Given the description of an element on the screen output the (x, y) to click on. 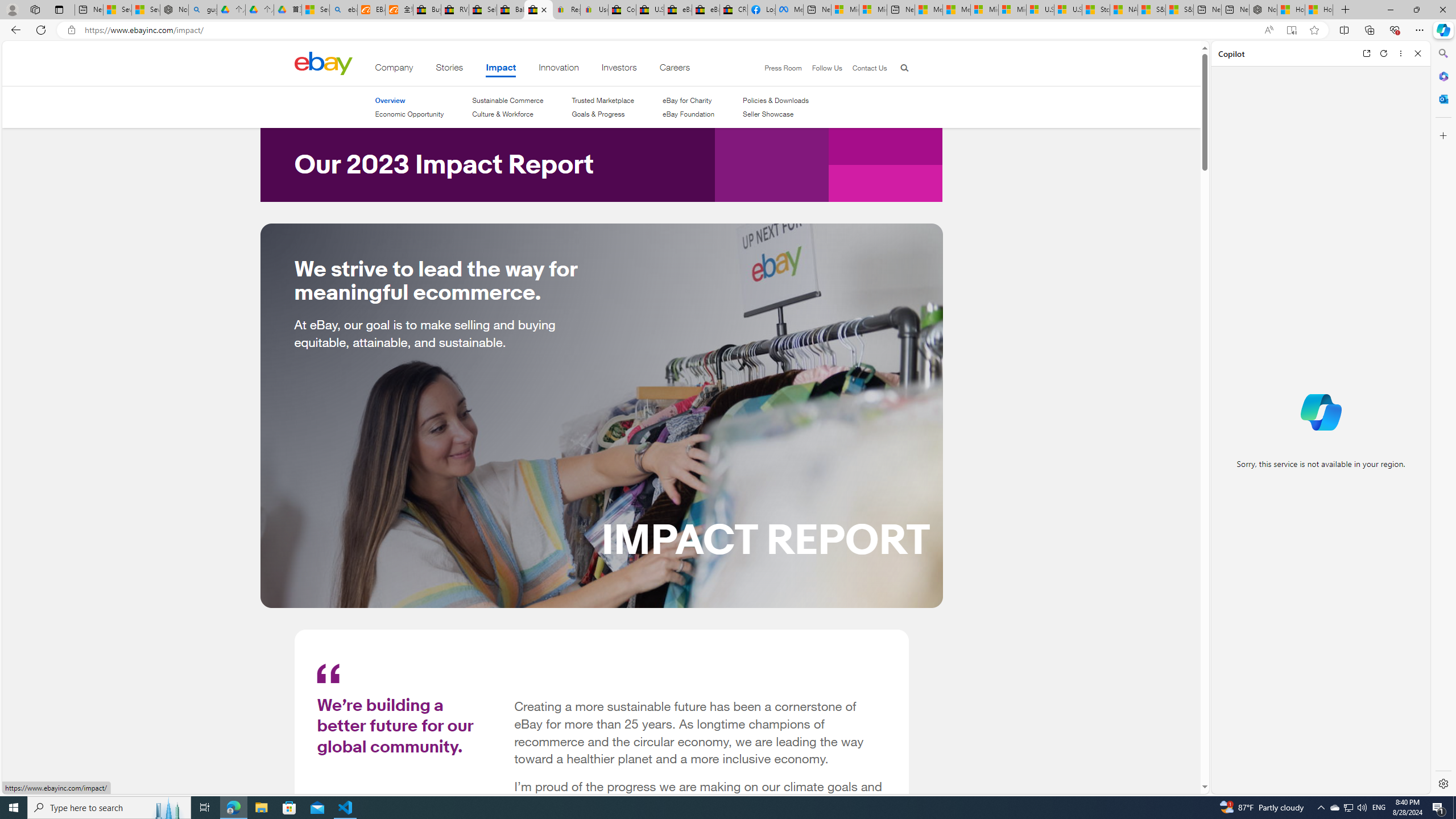
Meta Store (789, 9)
Consumer Health Data Privacy Policy - eBay Inc. (621, 9)
Sell worldwide with eBay (483, 9)
Seller Showcase (767, 113)
Economic Opportunity (409, 113)
Follow Us (821, 68)
eBay Foundation (688, 113)
